Given the description of an element on the screen output the (x, y) to click on. 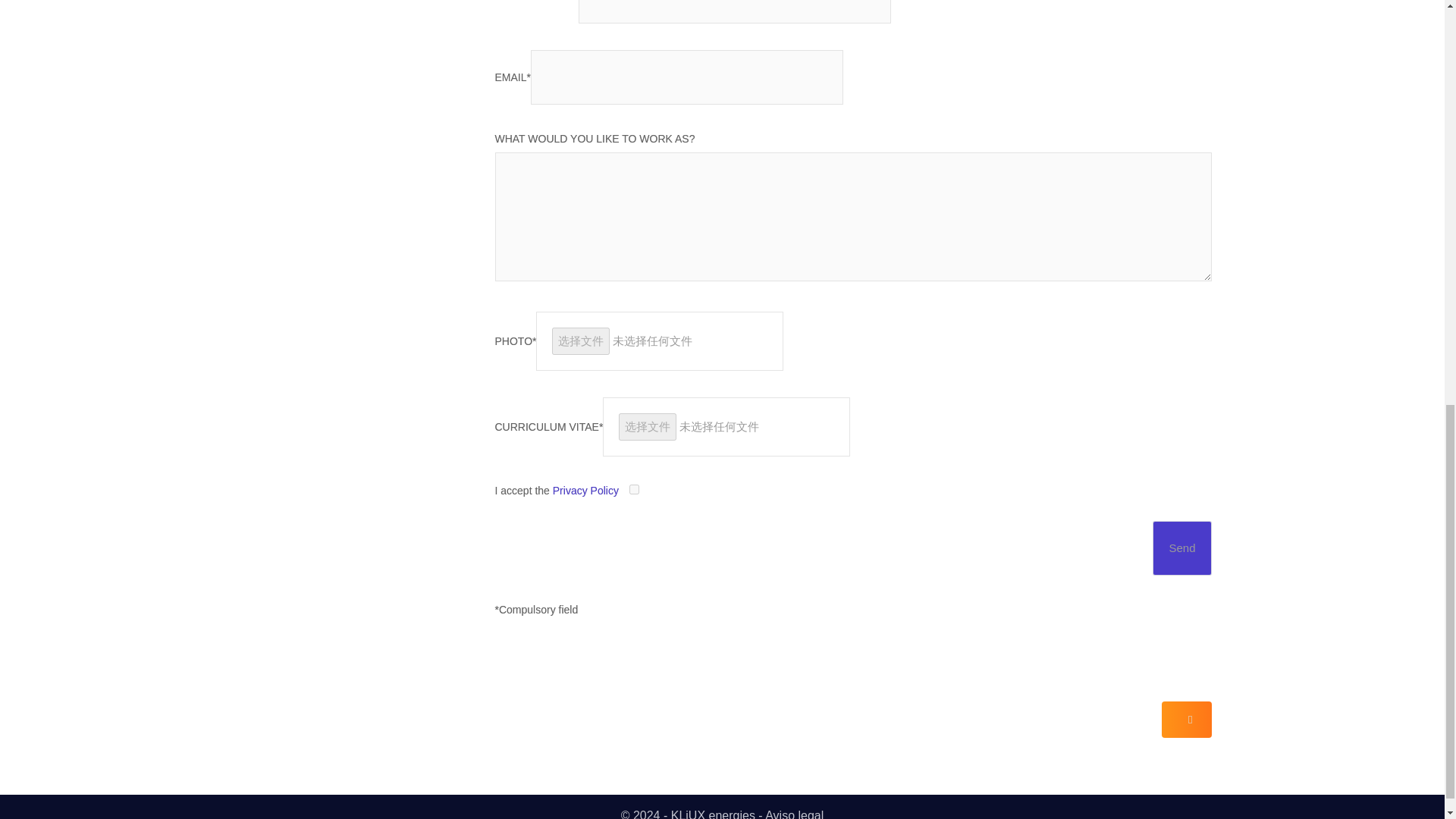
1 (633, 489)
Send (1182, 547)
